Given the description of an element on the screen output the (x, y) to click on. 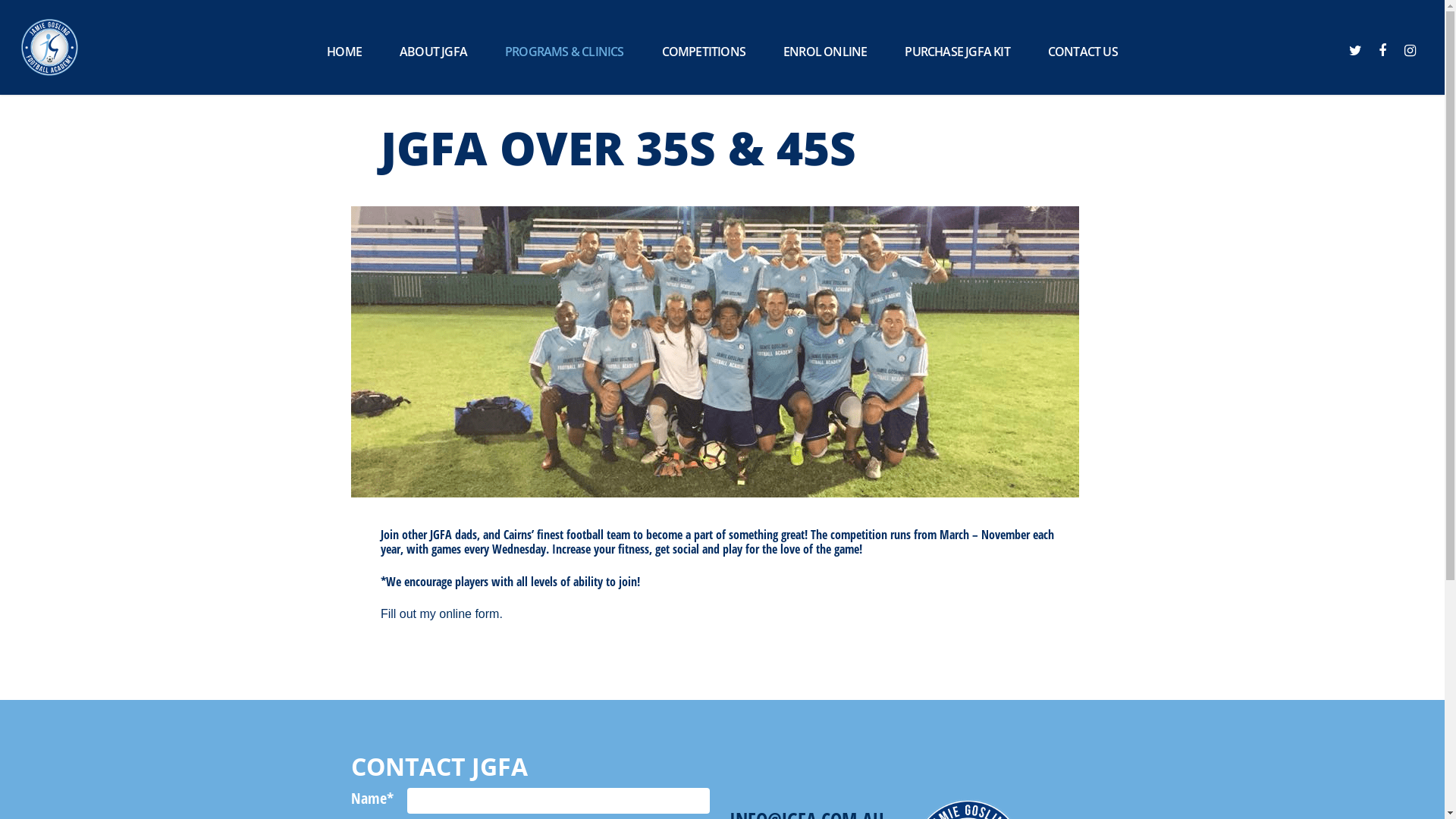
online form Element type: text (468, 613)
PROGRAMS & CLINICS Element type: text (564, 51)
ABOUT JGFA Element type: text (433, 51)
COMPETITIONS Element type: text (703, 51)
CONTACT US Element type: text (1082, 51)
HOME Element type: text (343, 51)
ENROL ONLINE Element type: text (824, 51)
PURCHASE JGFA KIT Element type: text (956, 51)
